Given the description of an element on the screen output the (x, y) to click on. 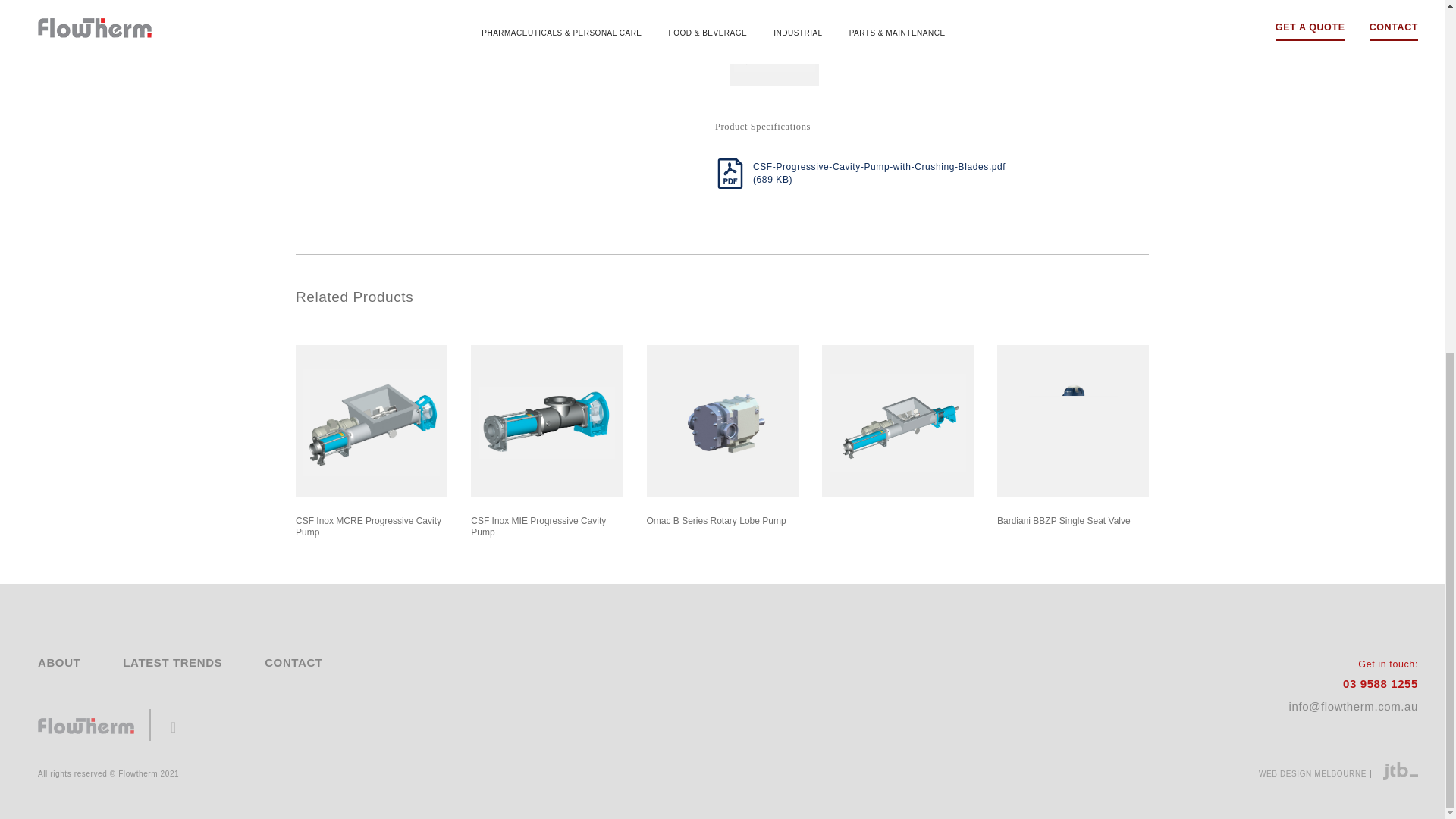
CSF Inox MCRE Progressive Cavity Pump (370, 420)
CSF Inox MIE Progressive Cavity Pump (546, 420)
WEB DESIGN MELBOURNE (1338, 775)
Bardiani BBZP Single Seat Valve (1072, 420)
03 9588 1255 (1353, 688)
CONTACT (292, 662)
LATEST TRENDS (172, 662)
Omac B Series Rotary Lobe Pump (721, 420)
ABOUT (58, 662)
